Given the description of an element on the screen output the (x, y) to click on. 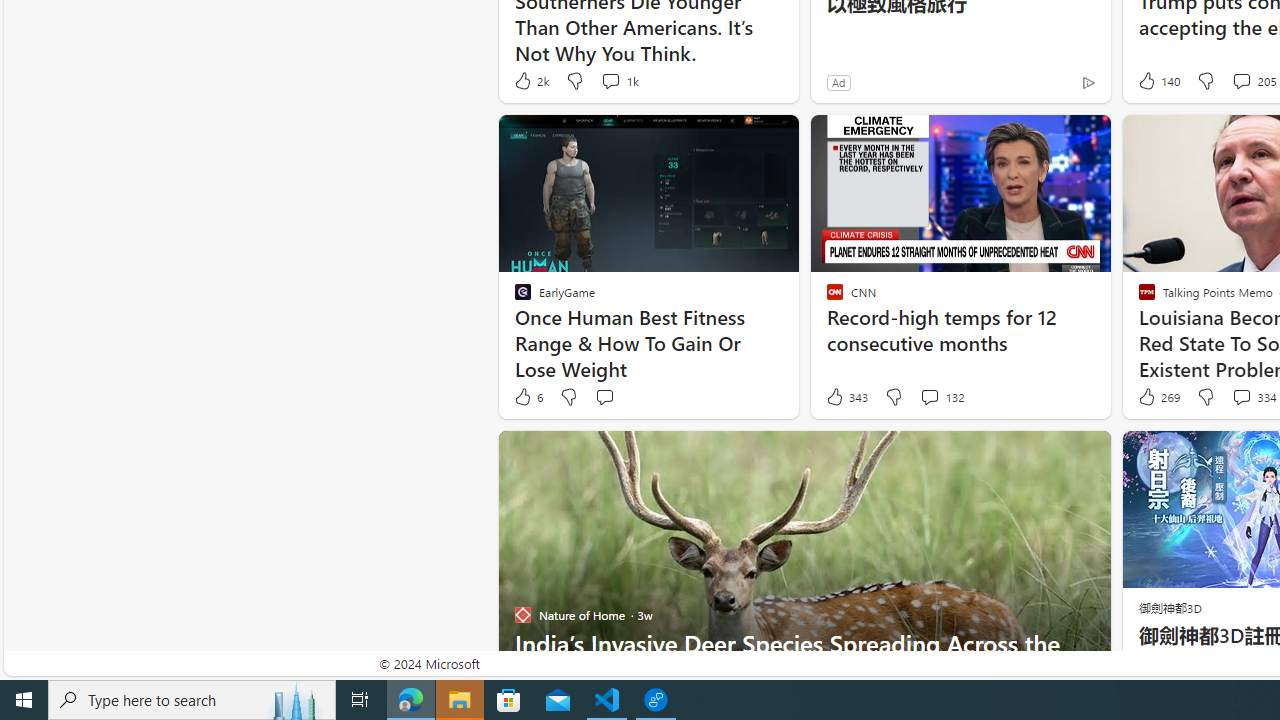
View comments 334 Comment (1241, 396)
View comments 1k Comment (610, 80)
